Given the description of an element on the screen output the (x, y) to click on. 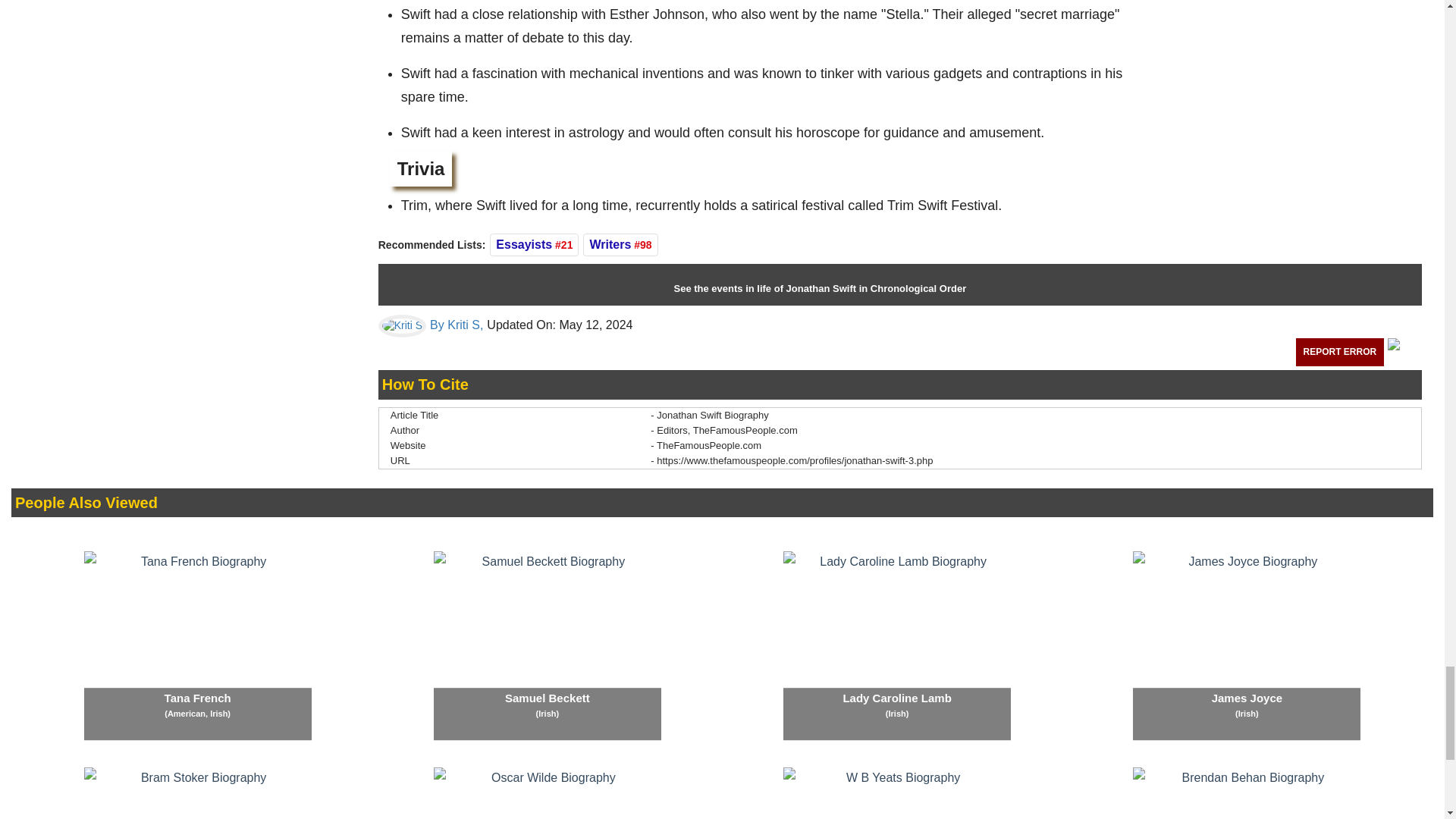
James Joyce (1245, 646)
Lady Caroline Lamb (896, 646)
Tana French (197, 646)
Samuel Beckett (547, 646)
W B Yeats (896, 793)
Bram Stoker (197, 793)
Brendan Behan (1245, 793)
Oscar Wilde (547, 793)
